Given the description of an element on the screen output the (x, y) to click on. 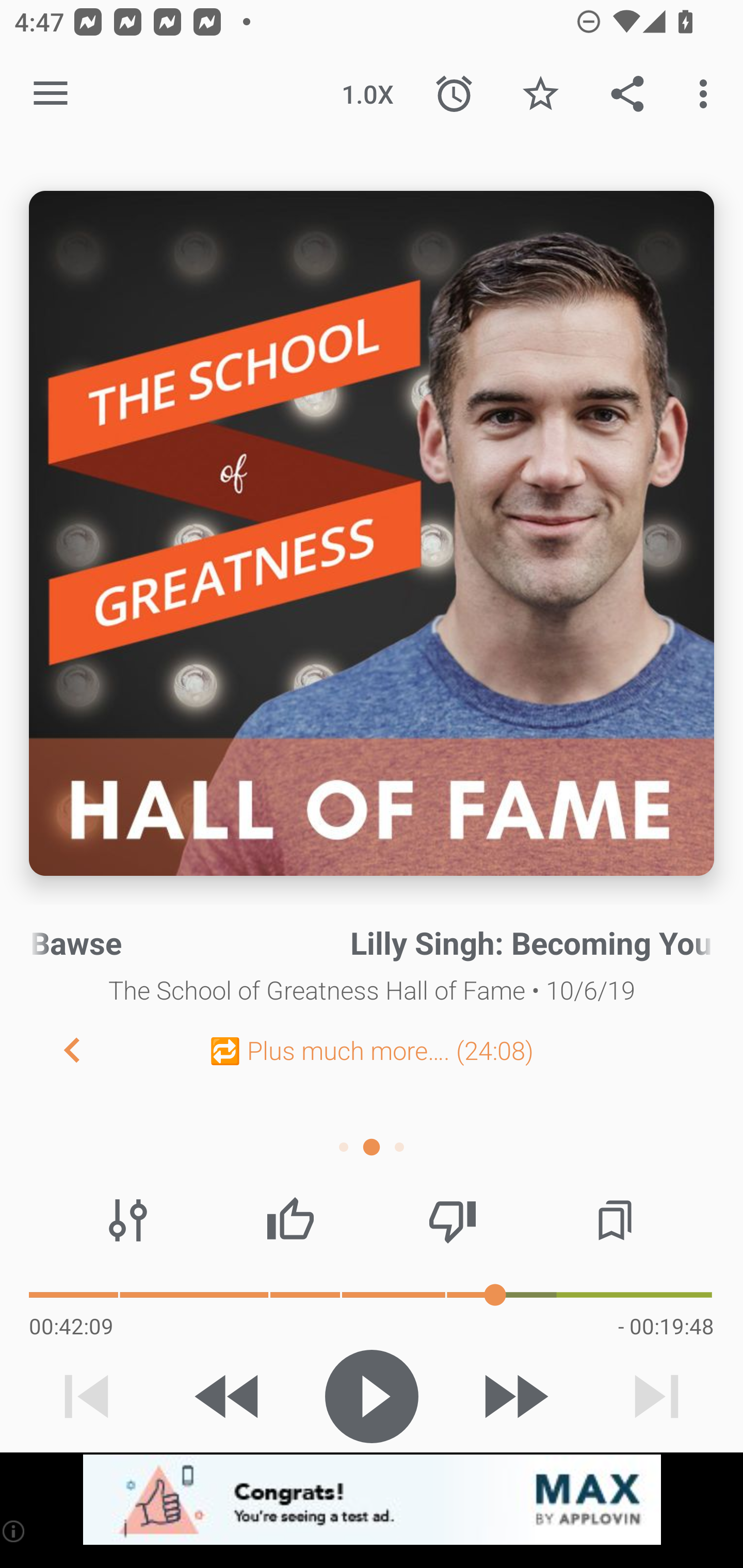
Open navigation sidebar (50, 93)
1.0X (366, 93)
Sleep Timer (453, 93)
Favorite (540, 93)
Share (626, 93)
More options (706, 93)
Episode description (371, 533)
Previous Chapter (56, 1049)
🔁 Plus much more…. (24:08) (371, 1050)
Audio effects (127, 1220)
Thumbs up (290, 1220)
Thumbs down (452, 1220)
Chapters / Bookmarks (614, 1220)
- 00:19:48 (666, 1325)
Previous track (86, 1395)
Skip 15s backward (228, 1395)
Play / Pause (371, 1395)
Skip 30s forward (513, 1395)
Next track (656, 1395)
app-monetization (371, 1500)
(i) (14, 1531)
